Given the description of an element on the screen output the (x, y) to click on. 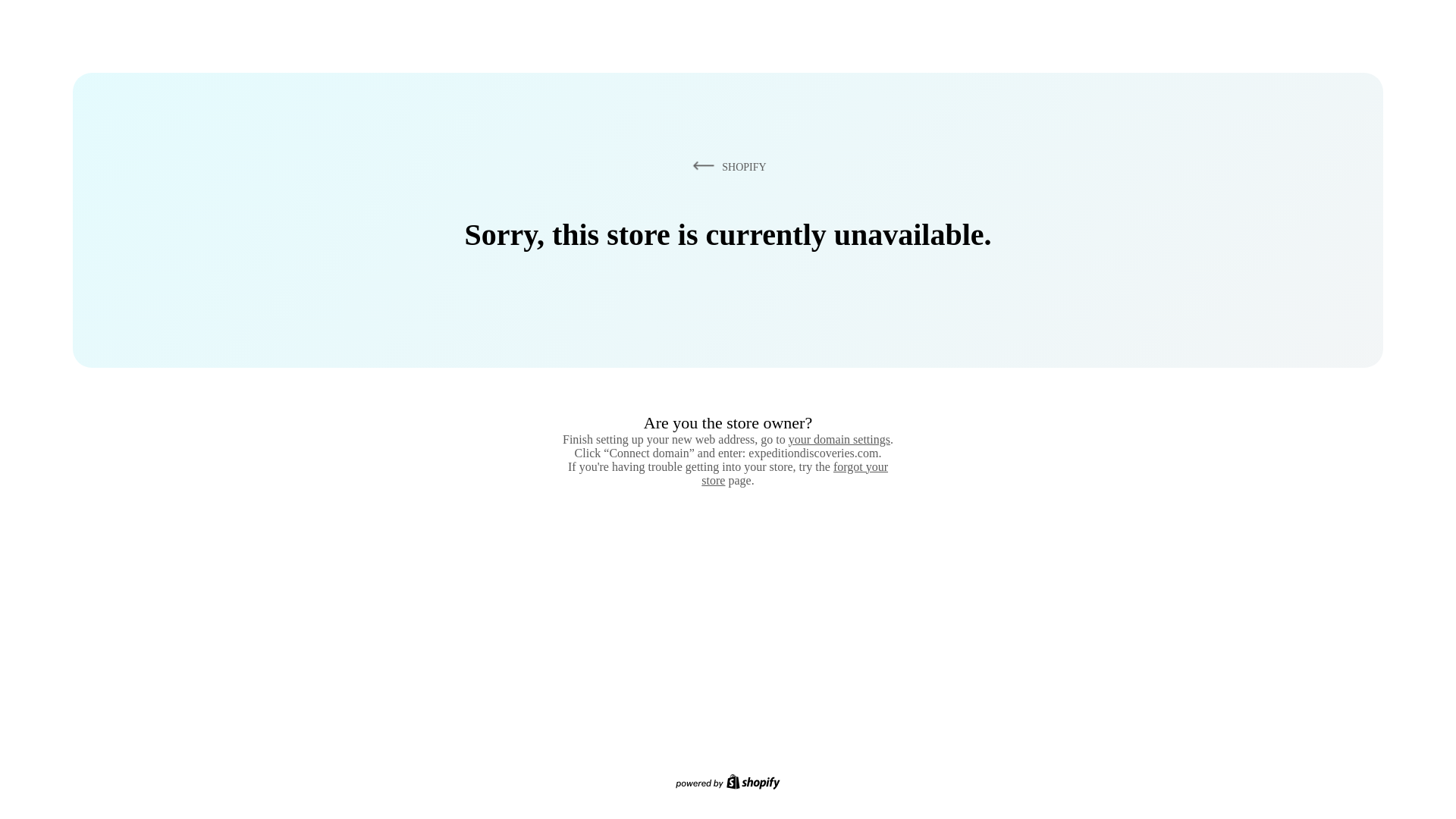
SHOPIFY (726, 166)
forgot your store (794, 473)
your domain settings (839, 439)
